Given the description of an element on the screen output the (x, y) to click on. 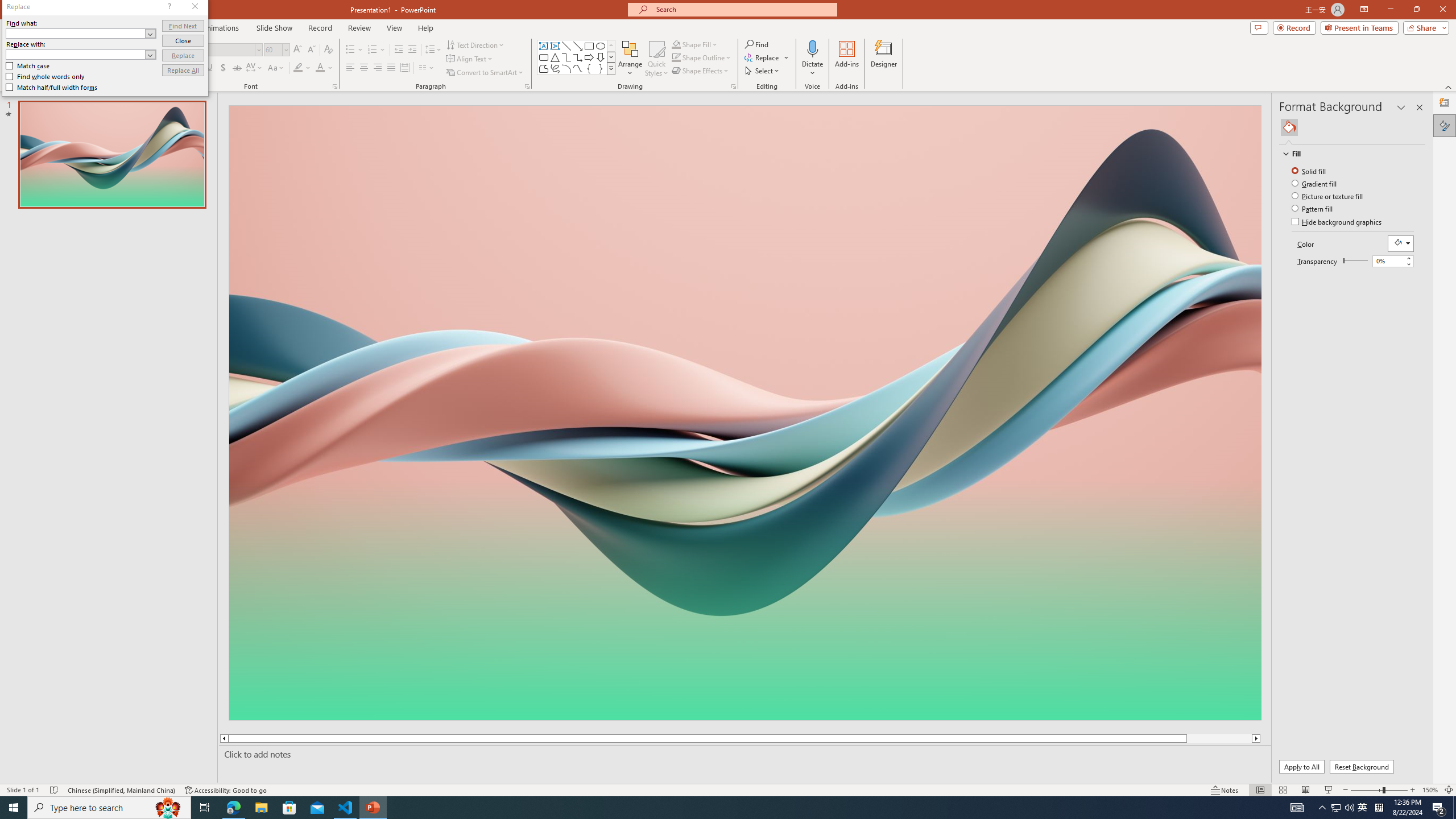
Replace (183, 55)
Apply to All (1301, 766)
Hide background graphics (1337, 222)
